Given the description of an element on the screen output the (x, y) to click on. 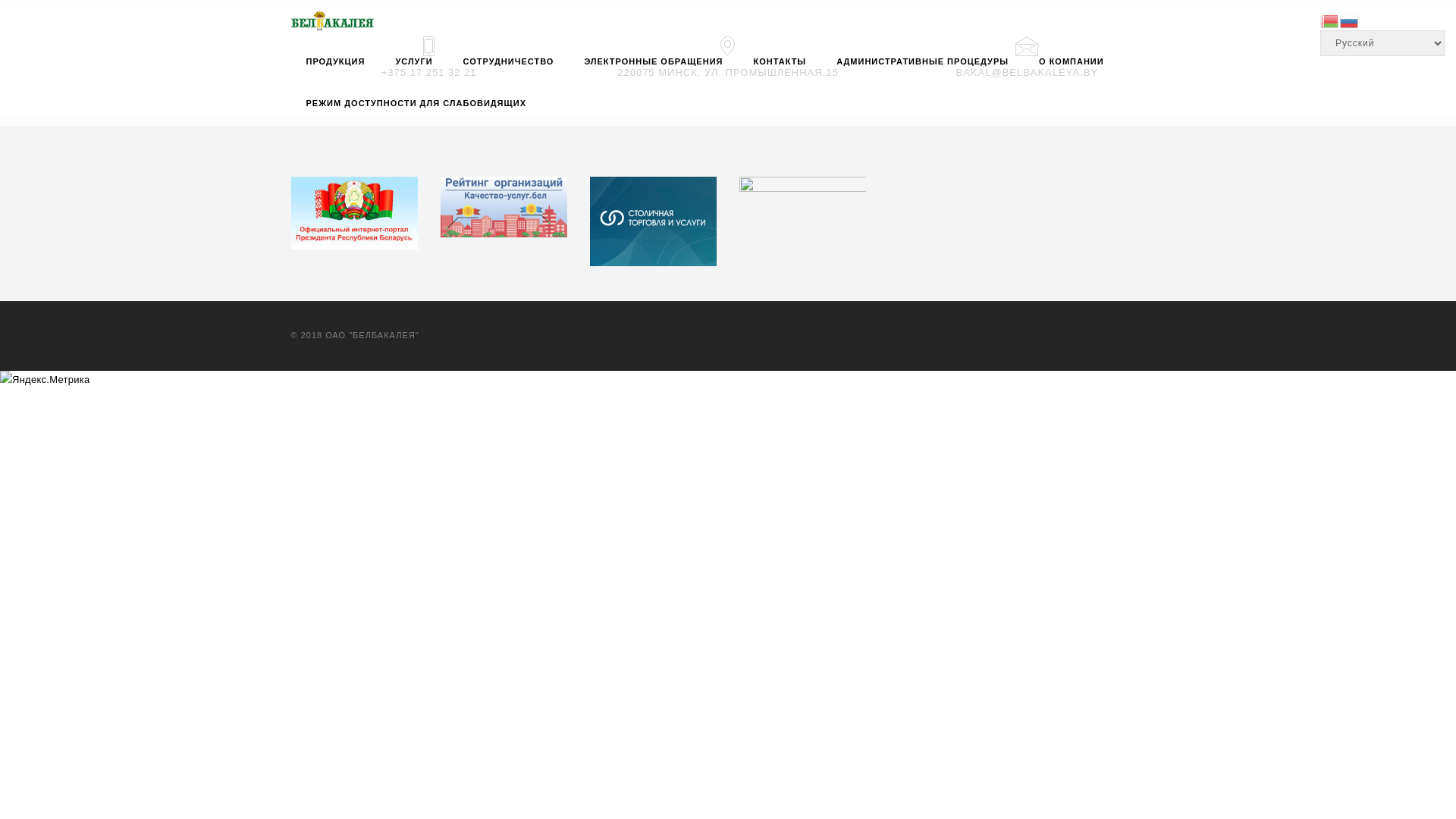
BAKAL@BELBAKALEYA.BY Element type: text (1027, 72)
